Given the description of an element on the screen output the (x, y) to click on. 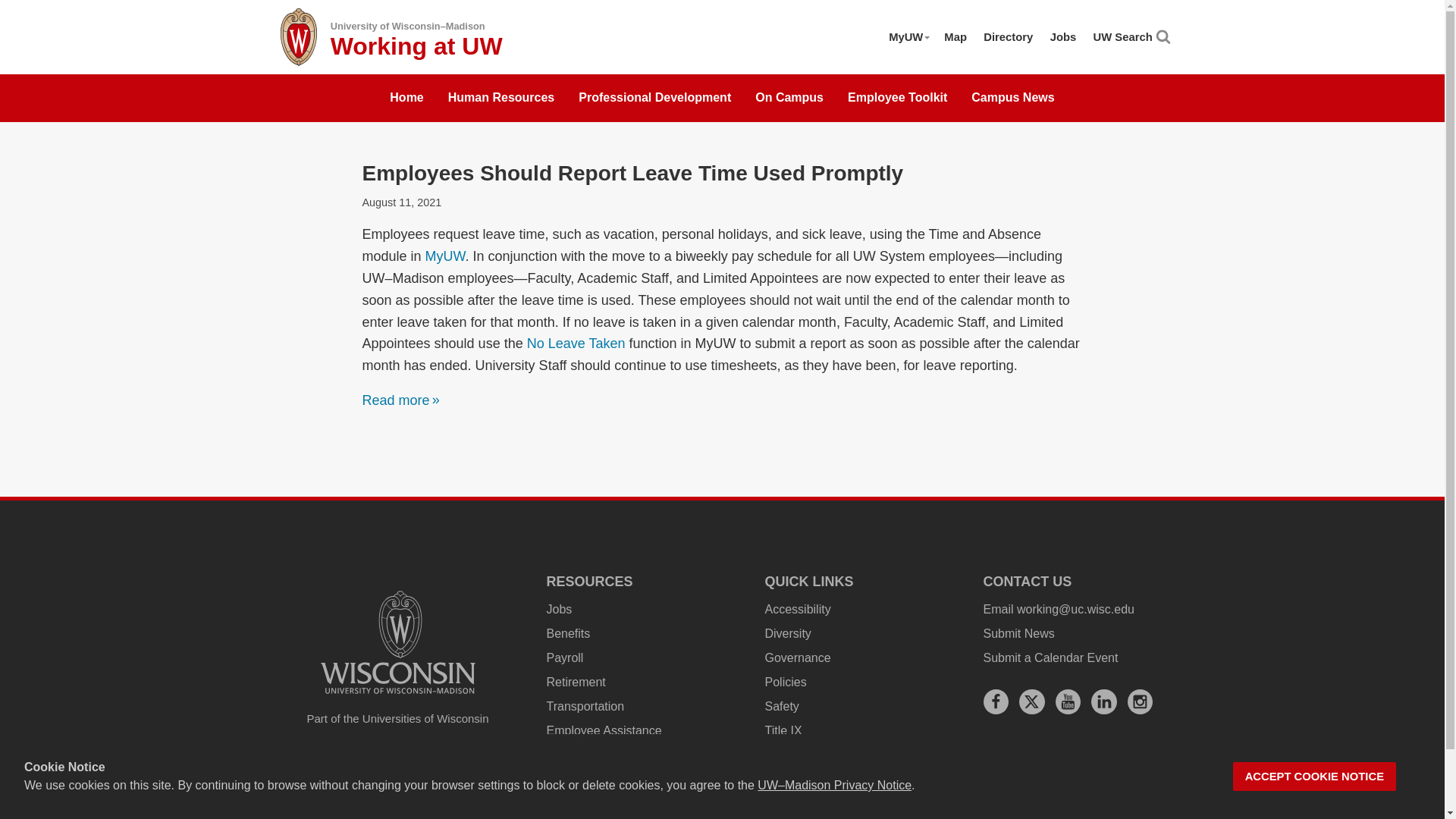
Professional Development (654, 98)
Diversity (787, 633)
Governance (796, 657)
Accessibility (796, 608)
Directory (1008, 37)
Payroll (564, 657)
Part of the Universities of Wisconsin (397, 719)
Benefits (567, 633)
Campus News (1012, 98)
